Given the description of an element on the screen output the (x, y) to click on. 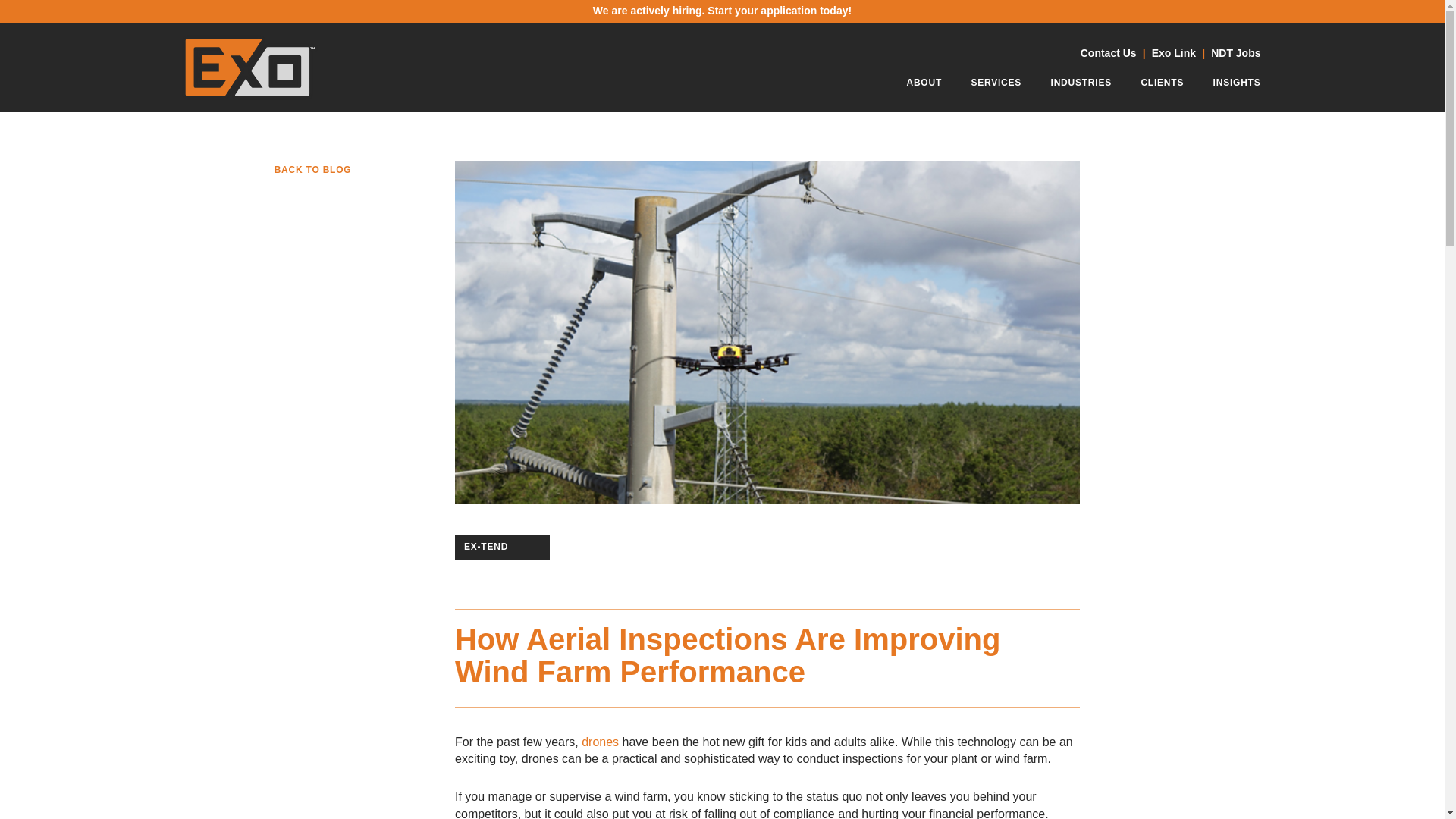
Contact Us (1108, 52)
SERVICES (996, 85)
Exo Link (1173, 52)
NDT Jobs (1235, 52)
INSIGHTS (1236, 85)
INDUSTRIES (1081, 85)
CLIENTS (1161, 85)
ABOUT (923, 85)
We are actively hiring. Start your application today! (722, 11)
